Given the description of an element on the screen output the (x, y) to click on. 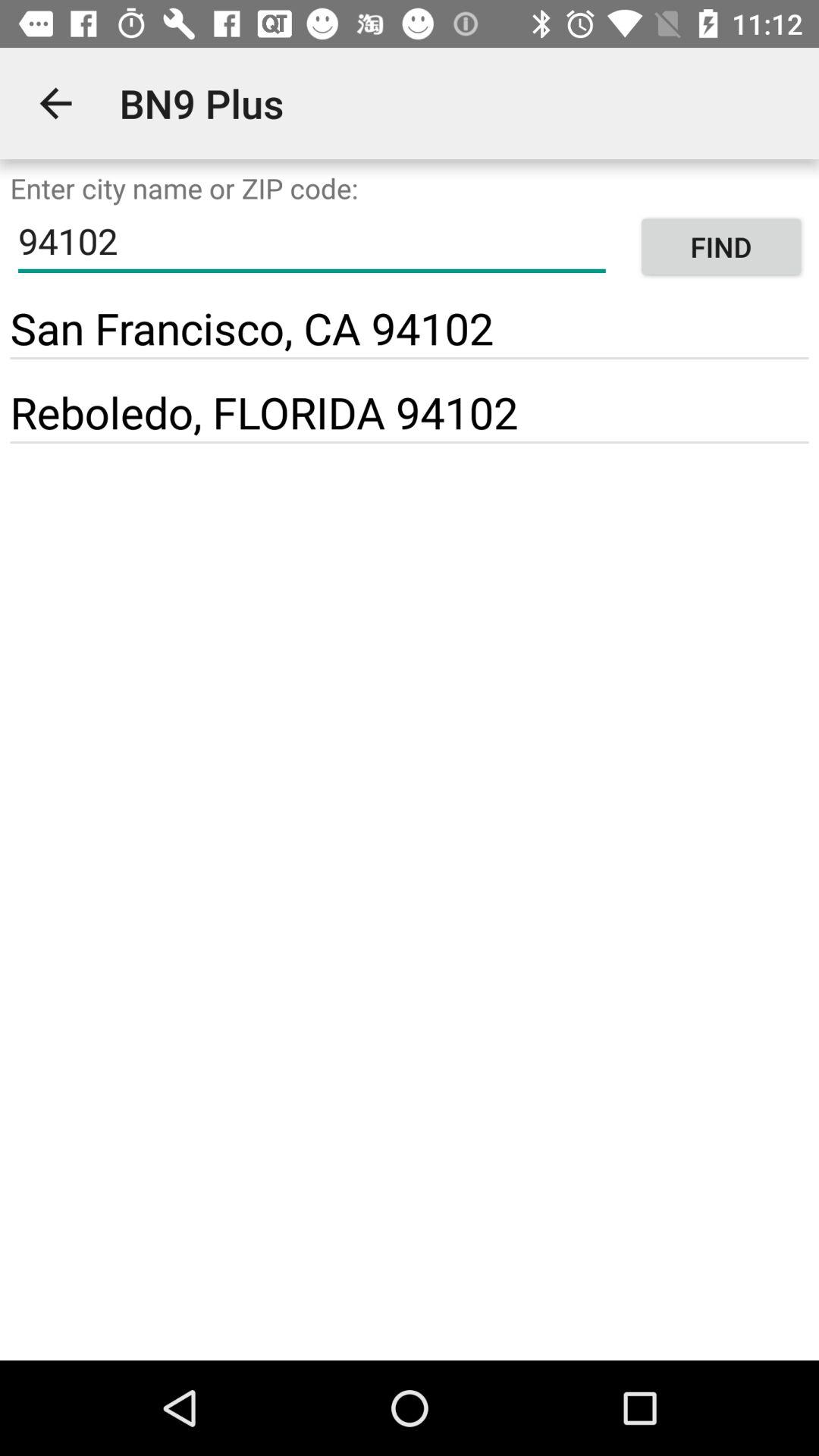
launch item next to bn9 plus item (55, 103)
